Given the description of an element on the screen output the (x, y) to click on. 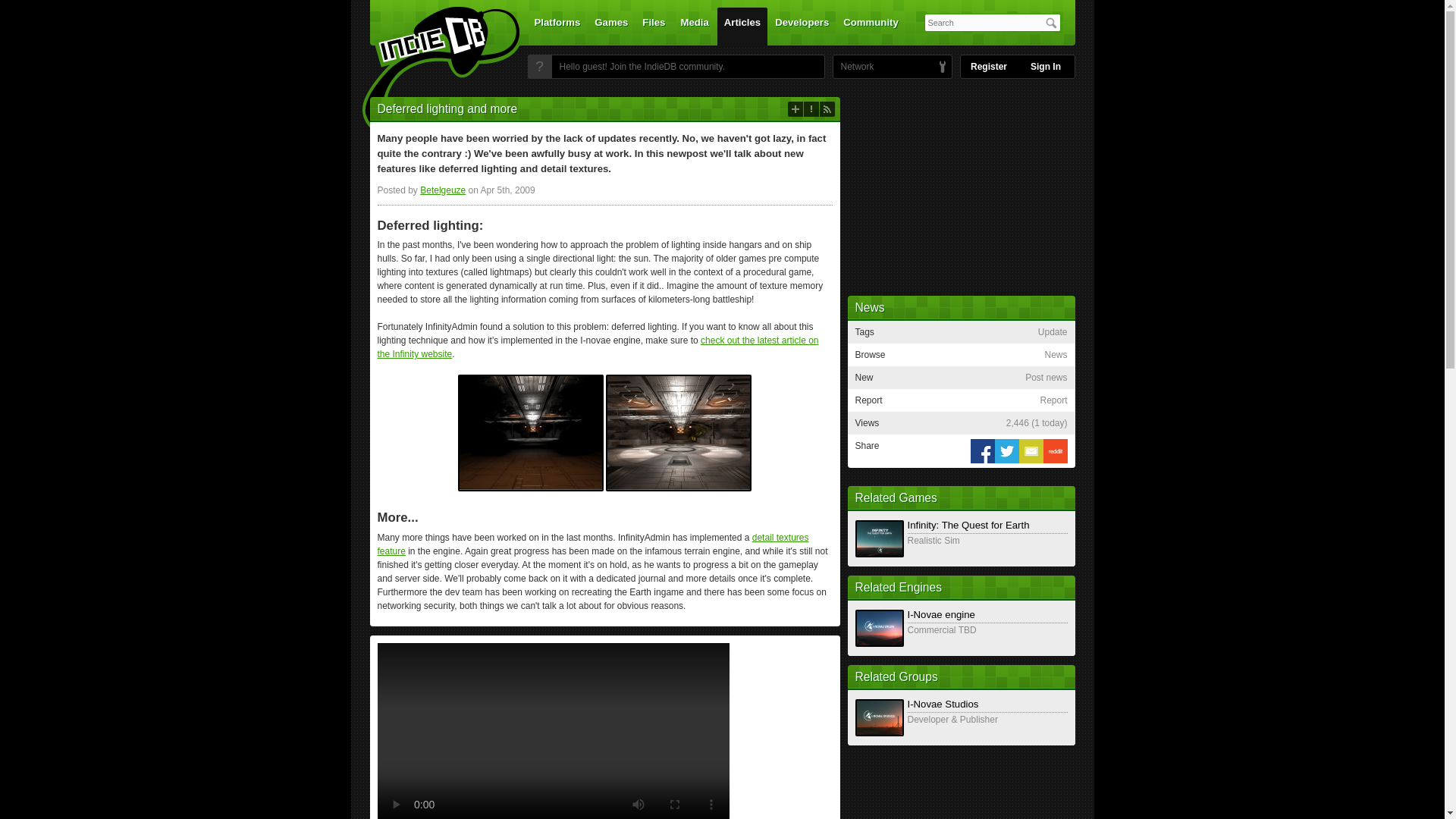
Developers (801, 26)
Community (870, 26)
Hangar - Mod DB (531, 431)
Hangar - Mod DB (678, 431)
Search (1050, 22)
Games (611, 26)
Home (430, 70)
Files (652, 26)
DBolical (852, 66)
detail textures (593, 544)
Join IndieDB (539, 66)
Media (694, 26)
Platforms (557, 26)
Articles (742, 26)
RSS (826, 109)
